Given the description of an element on the screen output the (x, y) to click on. 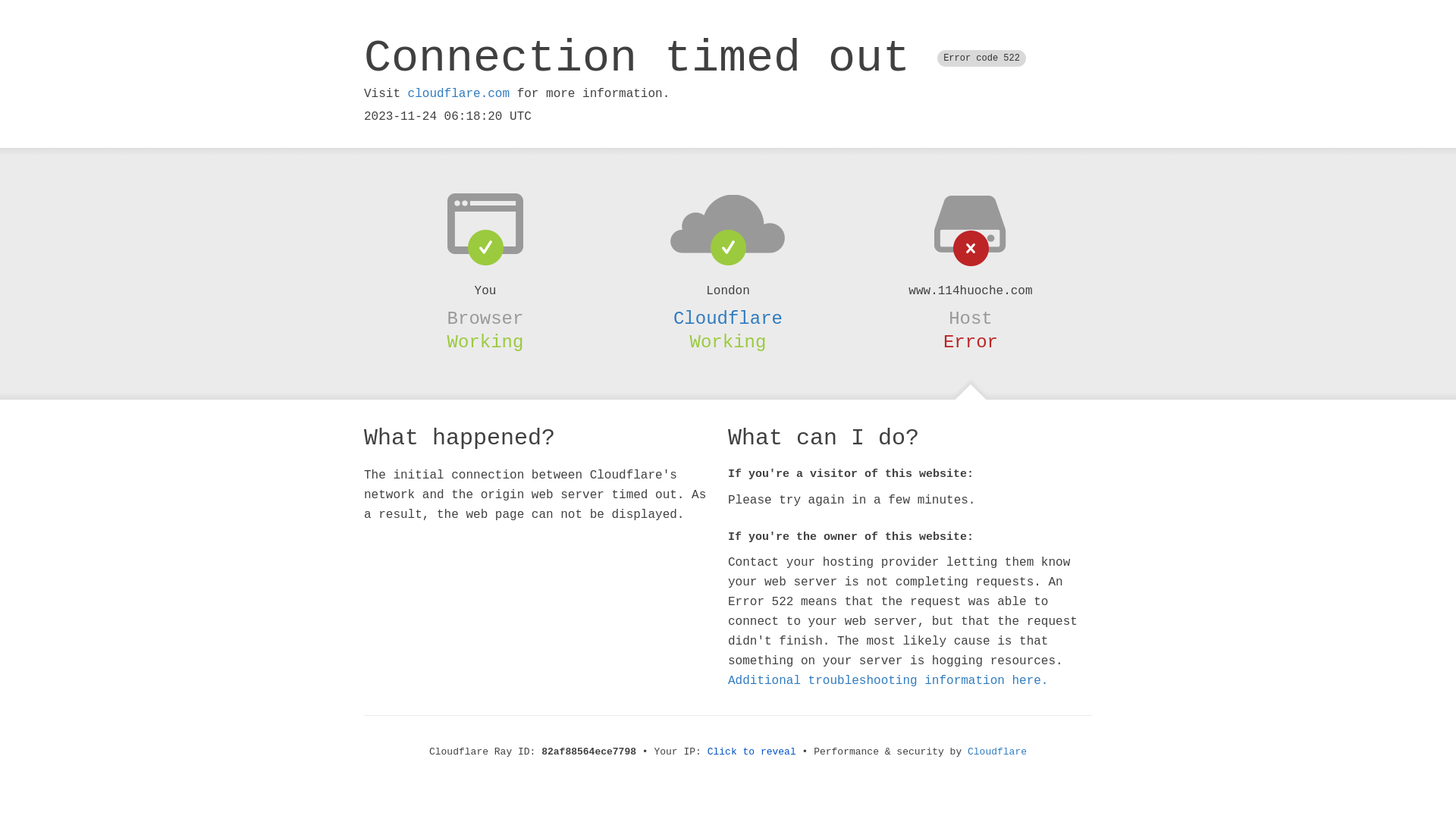
Cloudflare Element type: text (727, 318)
Additional troubleshooting information here. Element type: text (888, 680)
Cloudflare Element type: text (996, 751)
cloudflare.com Element type: text (458, 93)
Click to reveal Element type: text (751, 751)
